Given the description of an element on the screen output the (x, y) to click on. 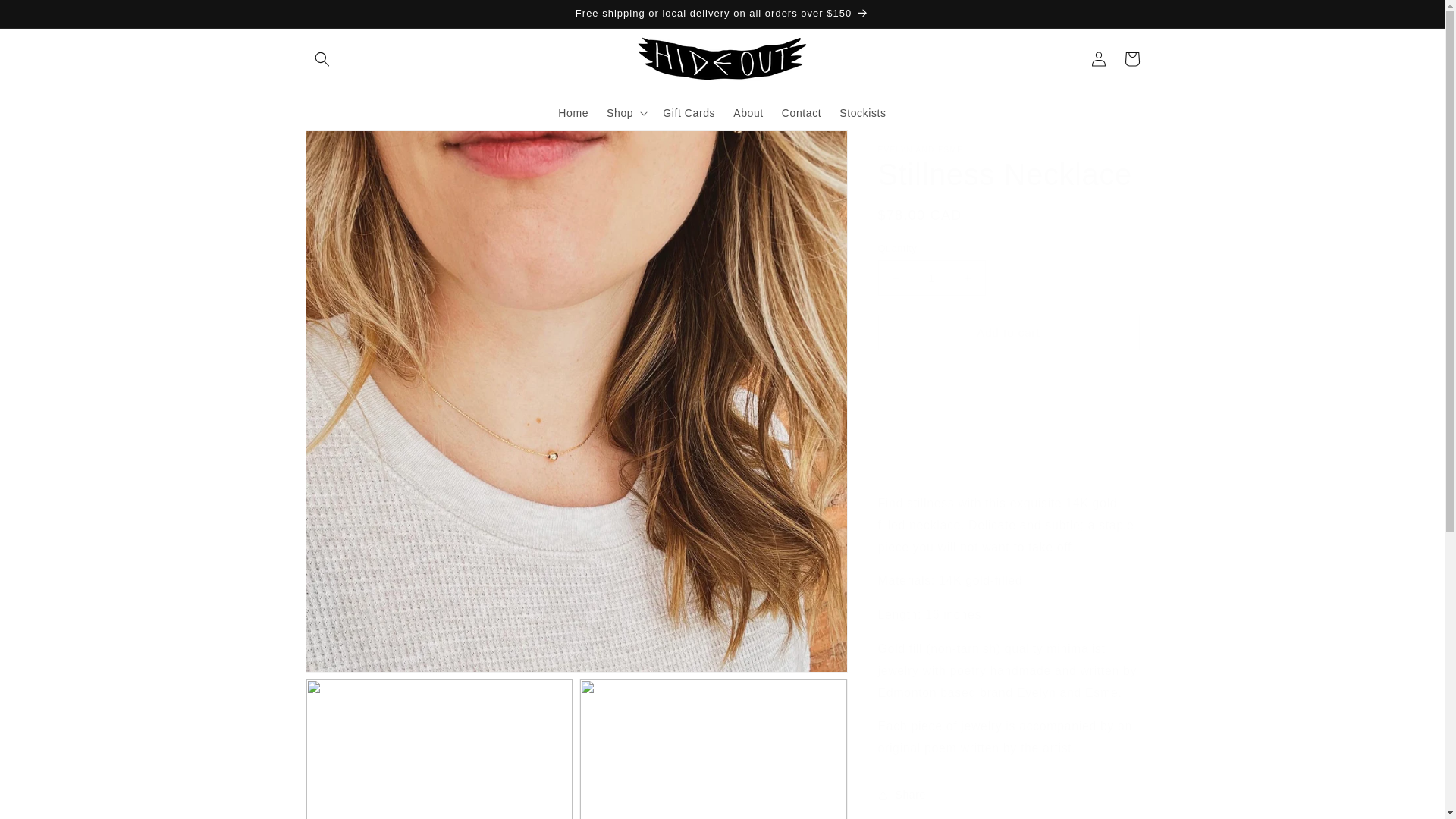
Open media 2 in modal (438, 748)
Skip to content (45, 17)
1 (931, 277)
Open media 3 in modal (713, 748)
